Given the description of an element on the screen output the (x, y) to click on. 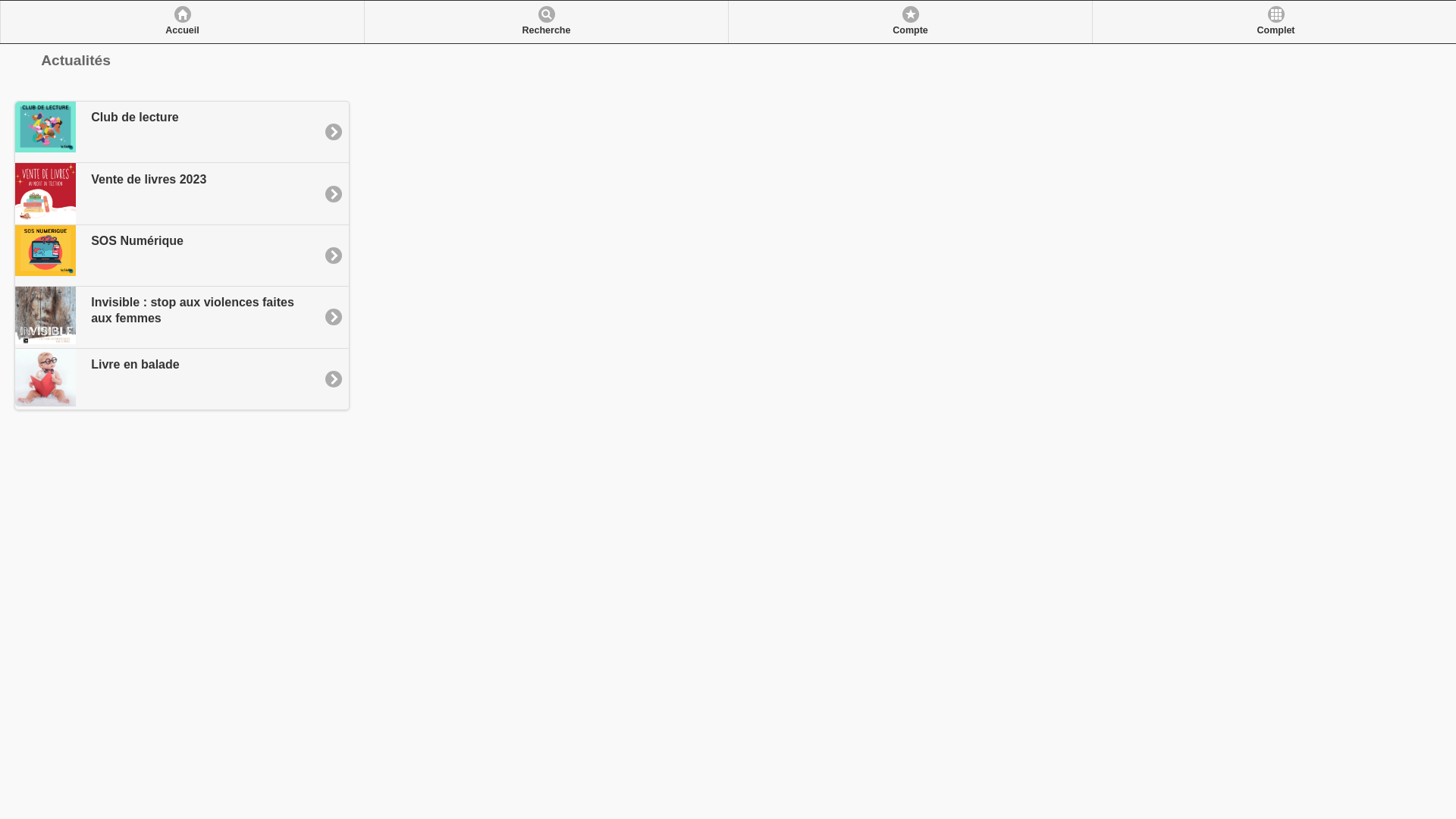
  Element type: text (15, 79)
Club de lecture Element type: text (181, 131)
Accueil Element type: text (182, 21)
Vente de livres 2023 Element type: text (181, 192)
  Element type: text (19, 79)
Livre en balade Element type: text (181, 378)
Recherche Element type: text (546, 21)
Compte Element type: text (910, 21)
Invisible : stop aux violences faites aux femmes Element type: text (181, 316)
